Given the description of an element on the screen output the (x, y) to click on. 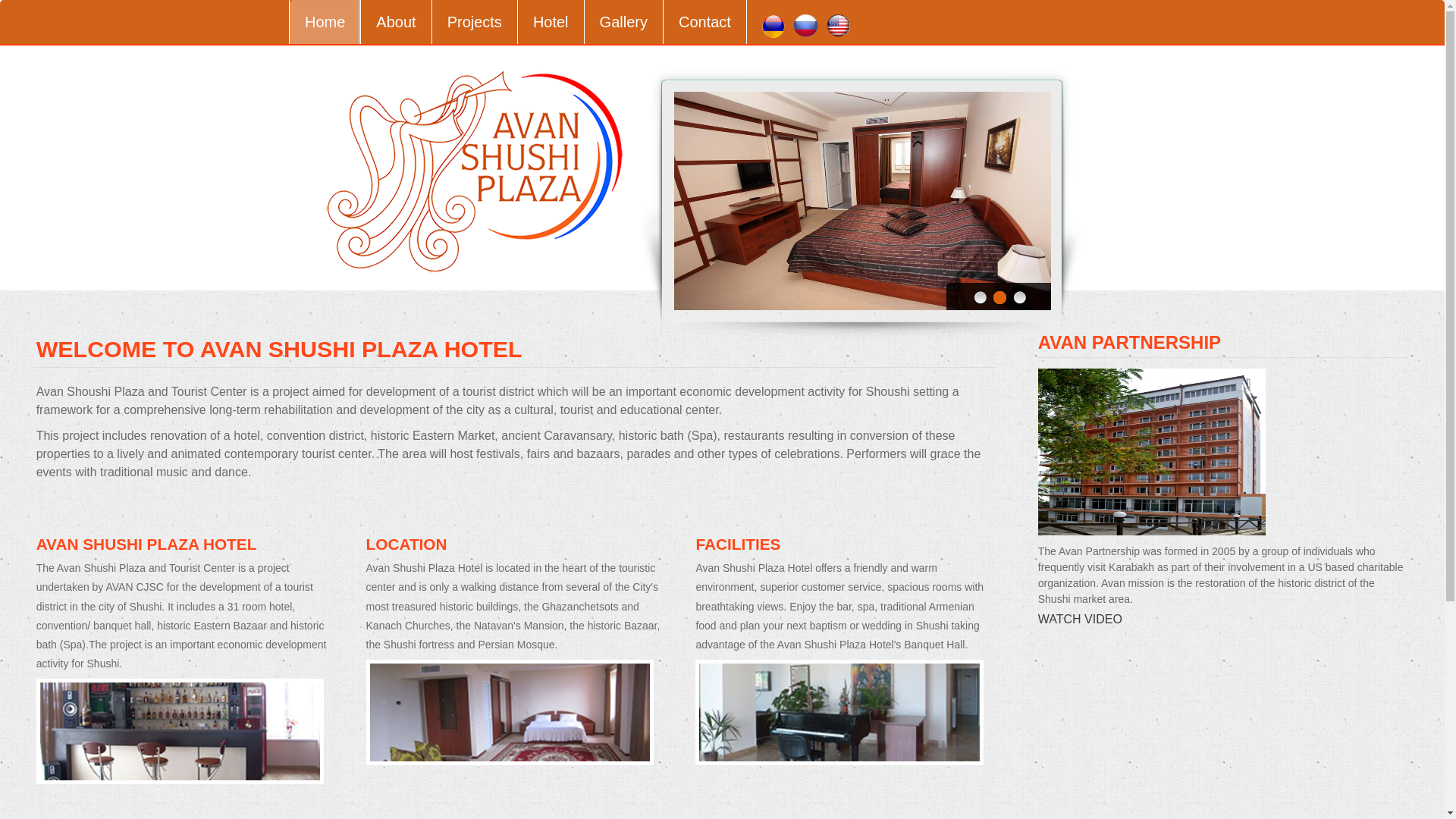
image-name (179, 730)
imnage-name (1151, 451)
Gallery (624, 22)
Contact (704, 22)
Projects (475, 22)
image-name (509, 712)
1 (979, 298)
2 (998, 298)
Hotel (551, 22)
image-name (838, 712)
Home (325, 22)
WATCH VIDEO (1080, 618)
About (395, 22)
Simple (475, 169)
3 (1018, 298)
